Given the description of an element on the screen output the (x, y) to click on. 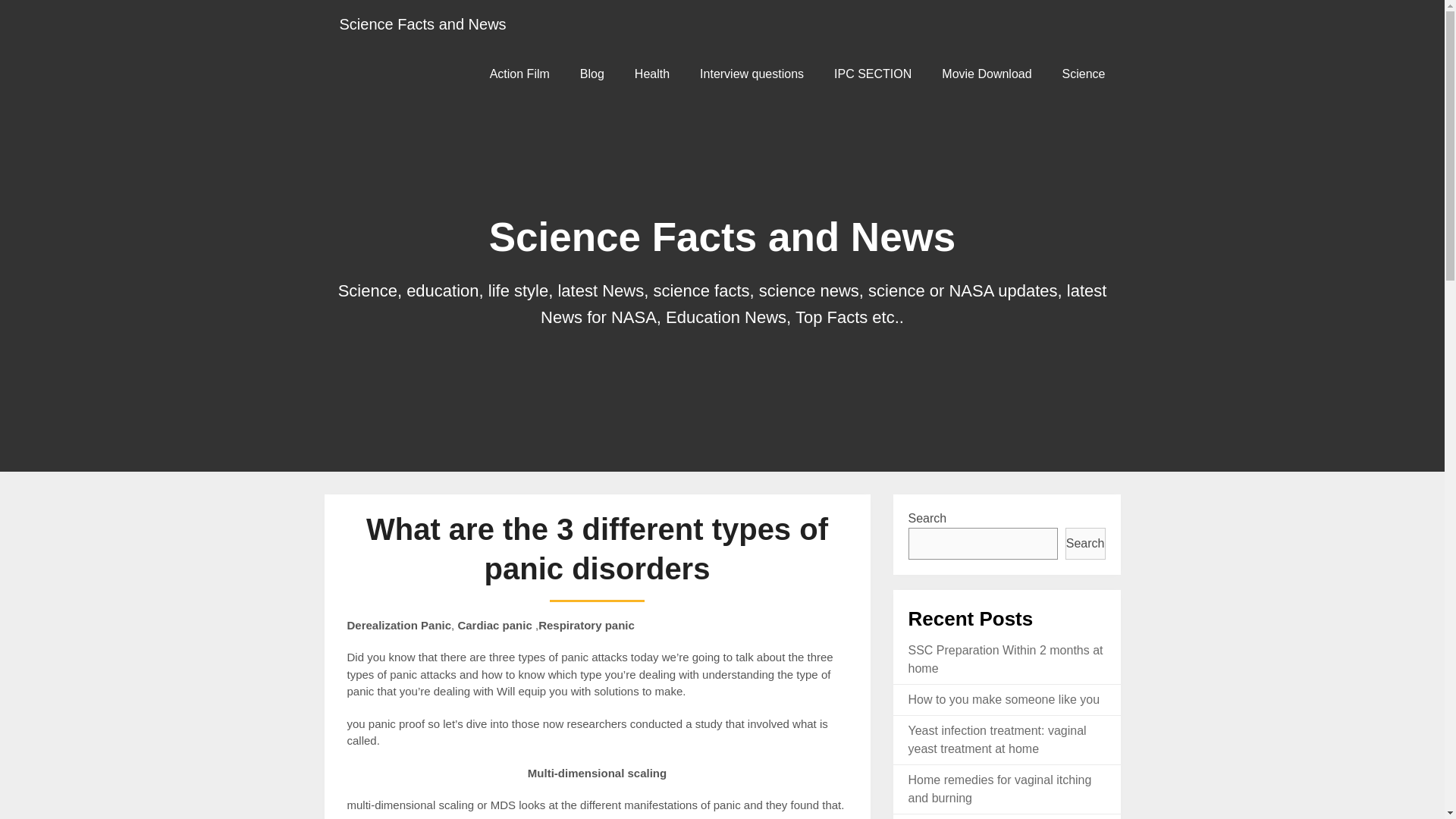
Home remedies for vaginal itching and burning (1000, 788)
IPC SECTION (872, 73)
Interview questions (751, 73)
Blog (592, 73)
Movie Download (986, 73)
Health (652, 73)
SSC Preparation Within 2 months at home (1005, 658)
Action Film (519, 73)
How to you make someone like you (1004, 698)
Search (1085, 543)
Science (1083, 73)
Yeast infection treatment: vaginal yeast treatment at home (997, 739)
Science Facts and News (422, 24)
